Given the description of an element on the screen output the (x, y) to click on. 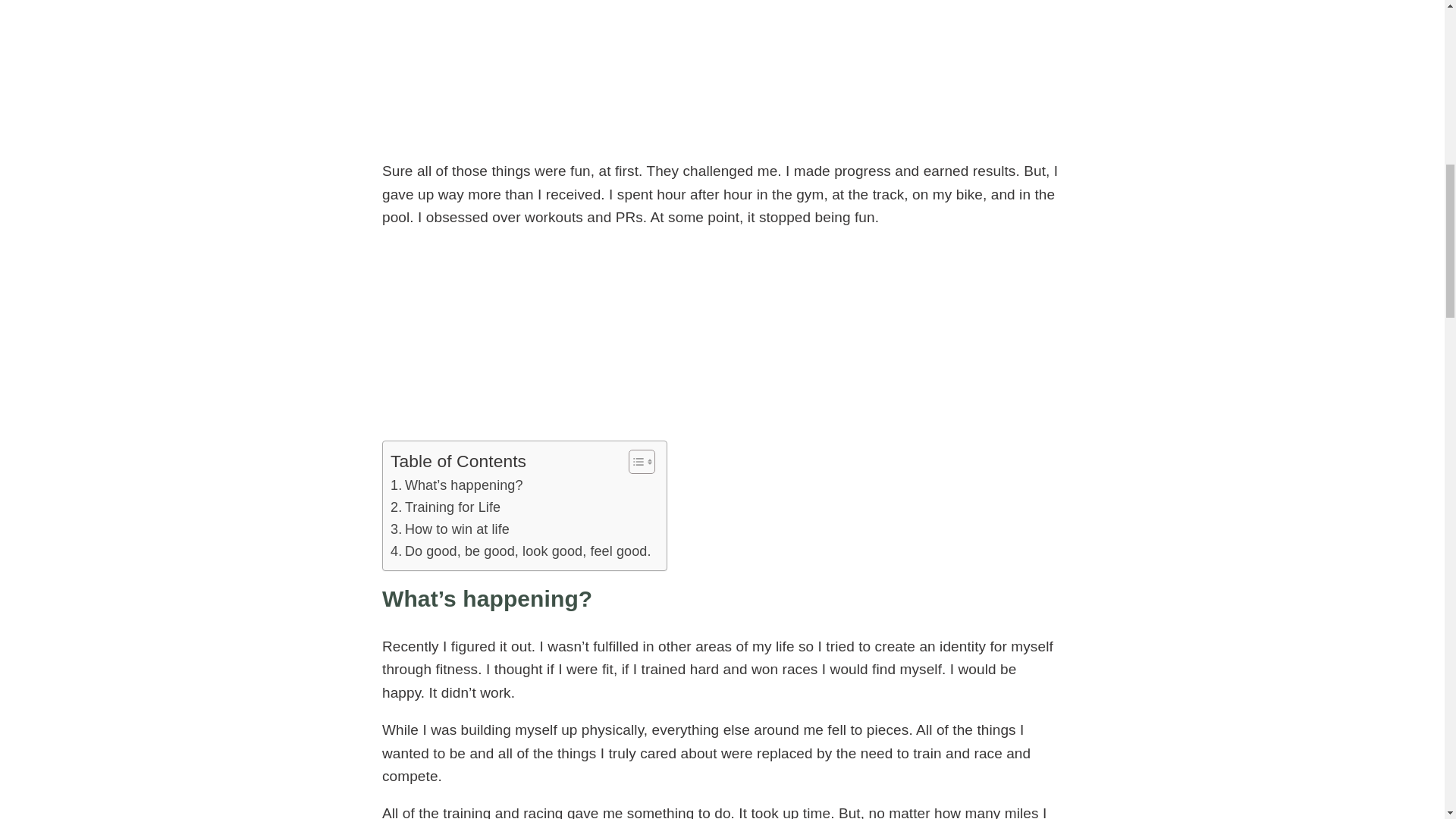
Do good, be good, look good, feel good. (520, 551)
Training for Life (445, 507)
How to win at life (449, 529)
